Given the description of an element on the screen output the (x, y) to click on. 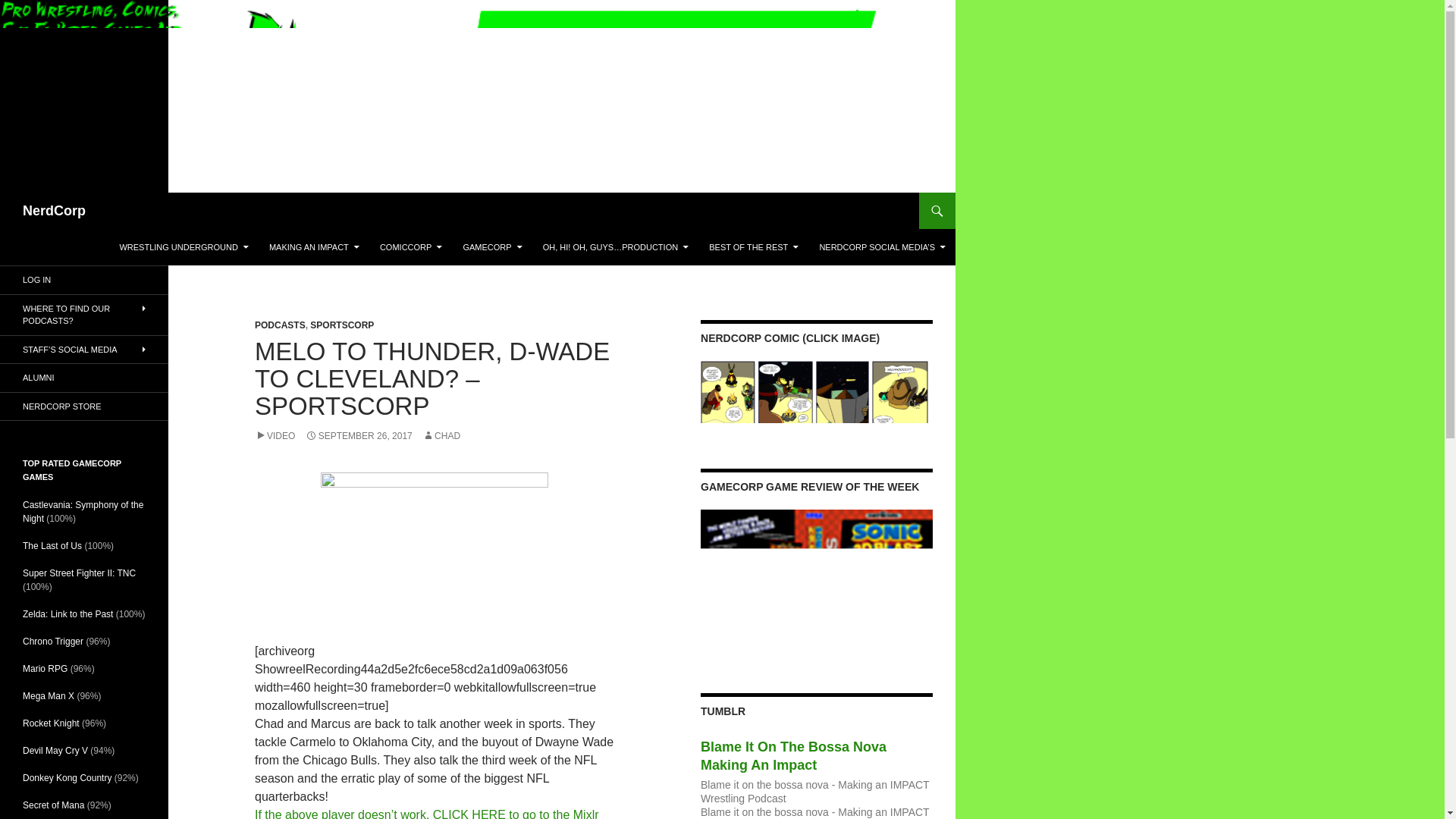
MAKING AN IMPACT (314, 247)
WRESTLING UNDERGROUND (183, 247)
GAMECORP (491, 247)
GameCorp Score of the Week (816, 582)
COMICCORP (411, 247)
NerdCorp (54, 210)
